Given the description of an element on the screen output the (x, y) to click on. 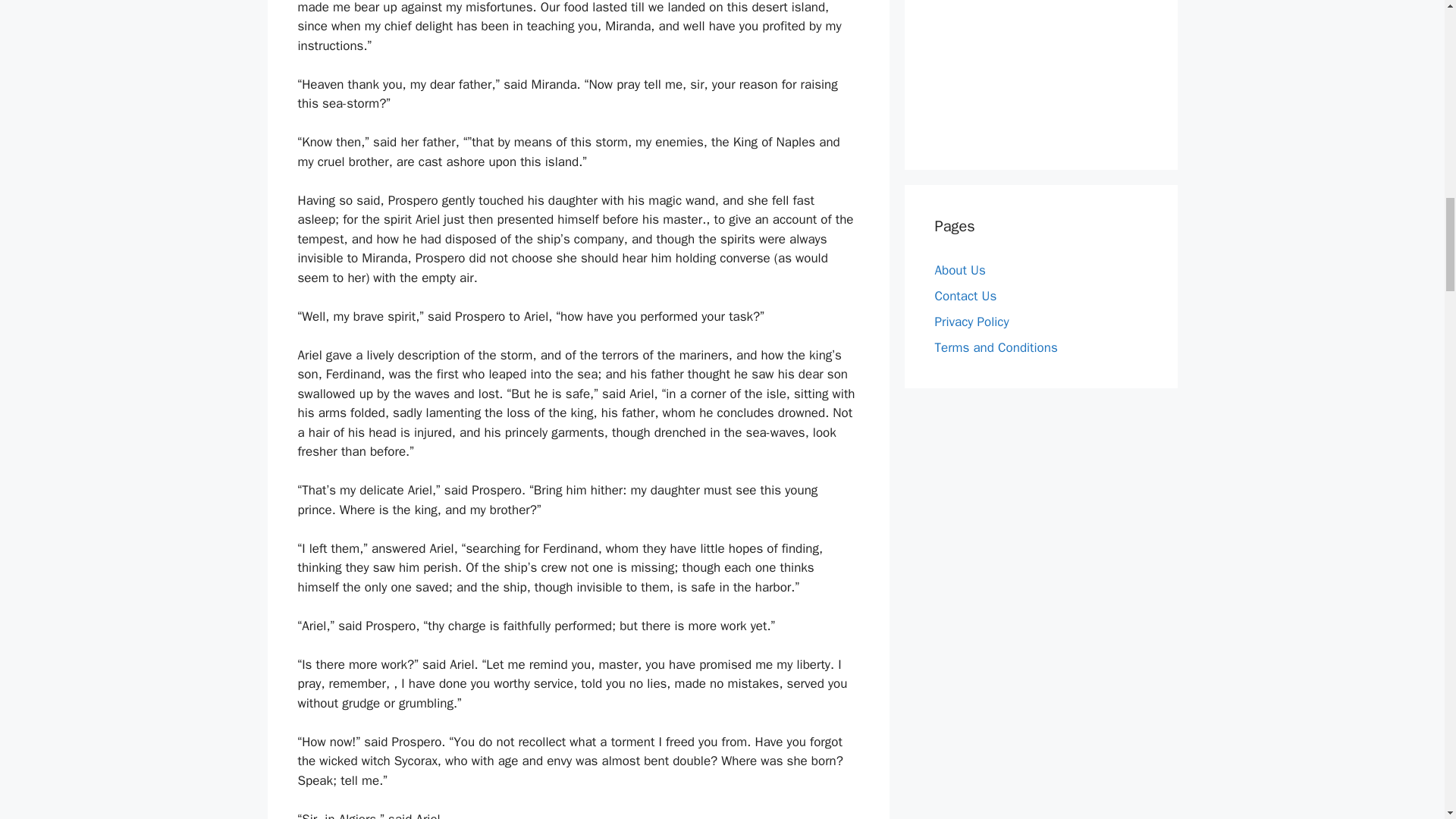
Advertisement (1040, 69)
Terms and Conditions (995, 347)
About Us (959, 270)
Contact Us (964, 295)
Privacy Policy (971, 321)
